Given the description of an element on the screen output the (x, y) to click on. 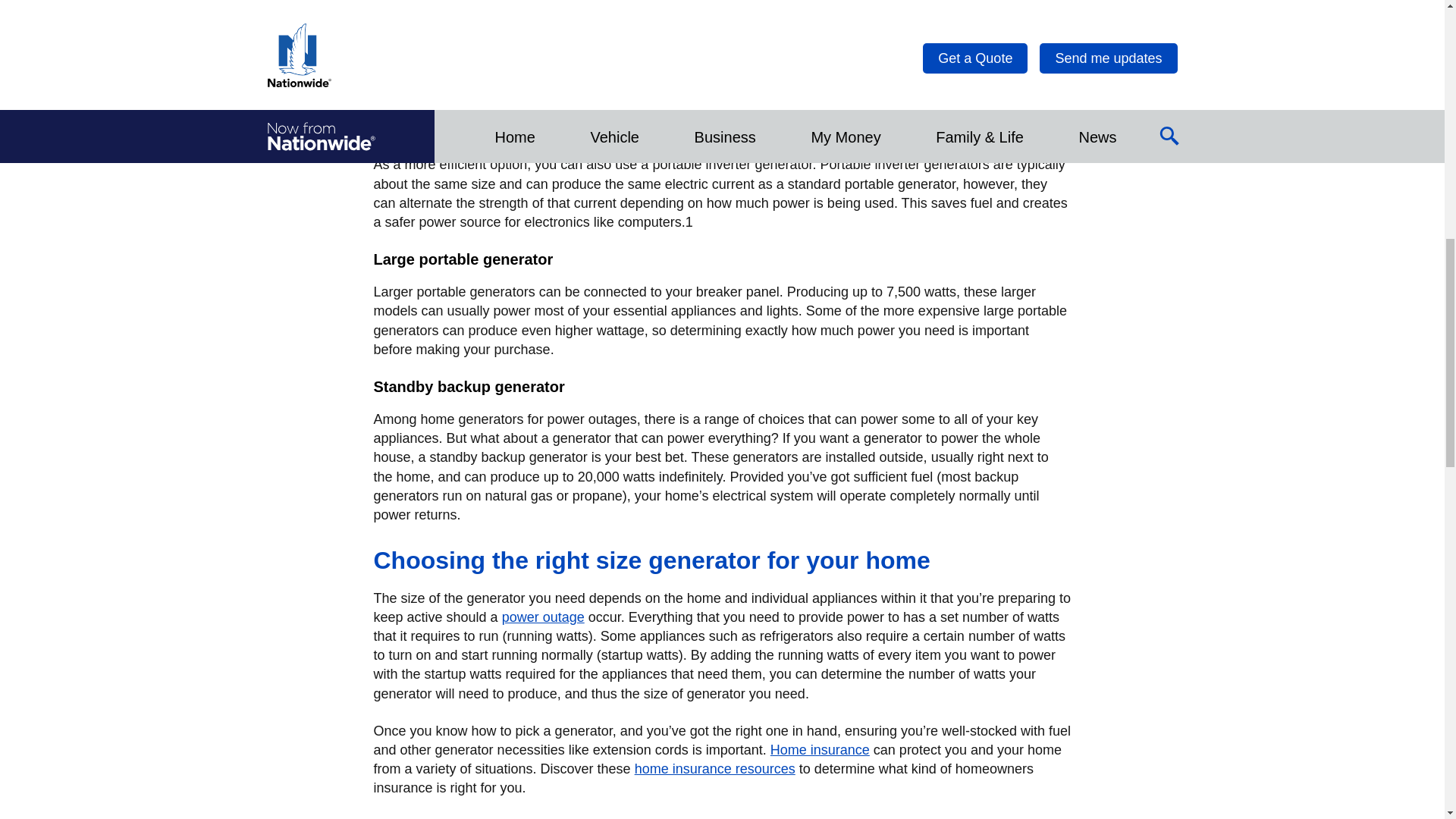
Types of Homeowners Insurance (714, 768)
Blackouts (543, 616)
Homeowners Insurance (819, 749)
